Given the description of an element on the screen output the (x, y) to click on. 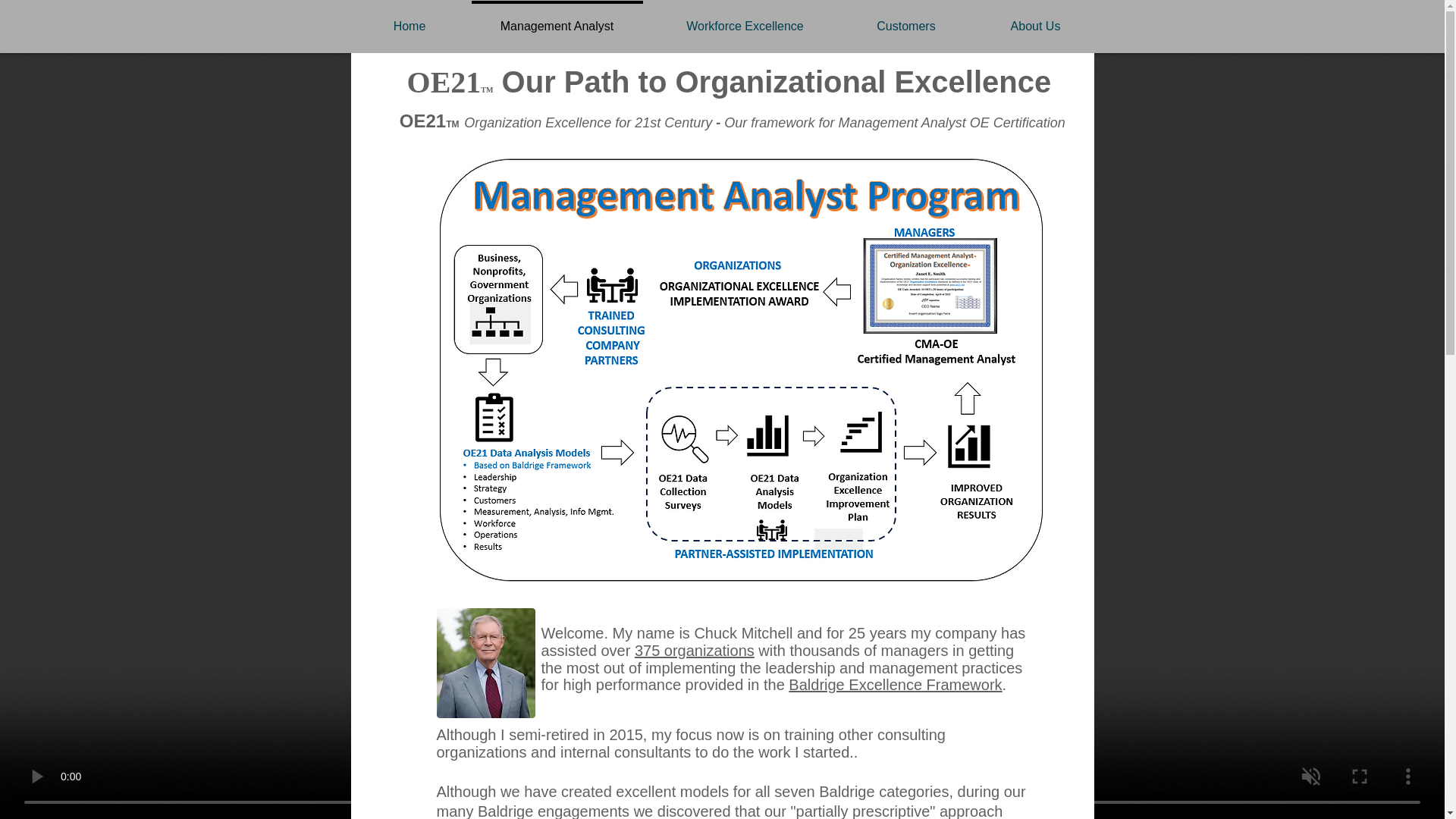
Workforce Excellence (745, 18)
Customers (906, 18)
Management Analyst (557, 18)
Home (409, 18)
375 organizations (694, 650)
Baldrige Excellence Framework (895, 684)
About Us (1034, 18)
